Given the description of an element on the screen output the (x, y) to click on. 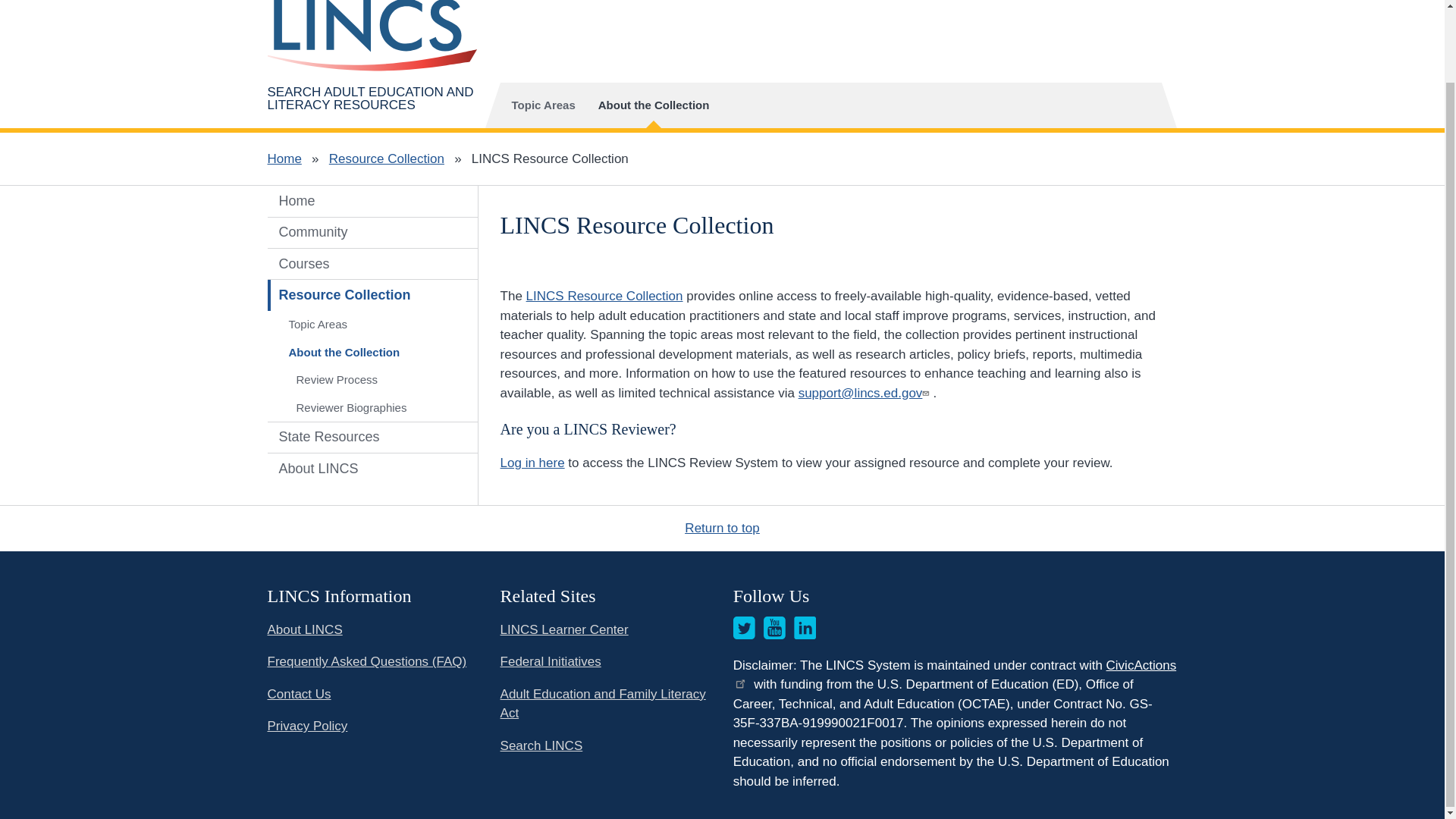
LINCS Home Page (372, 36)
Follow LINCS on Twitter! (744, 627)
Join LINCS on LinkedIn! (804, 627)
Watch LINCS videos on YouTube! (774, 627)
